Given the description of an element on the screen output the (x, y) to click on. 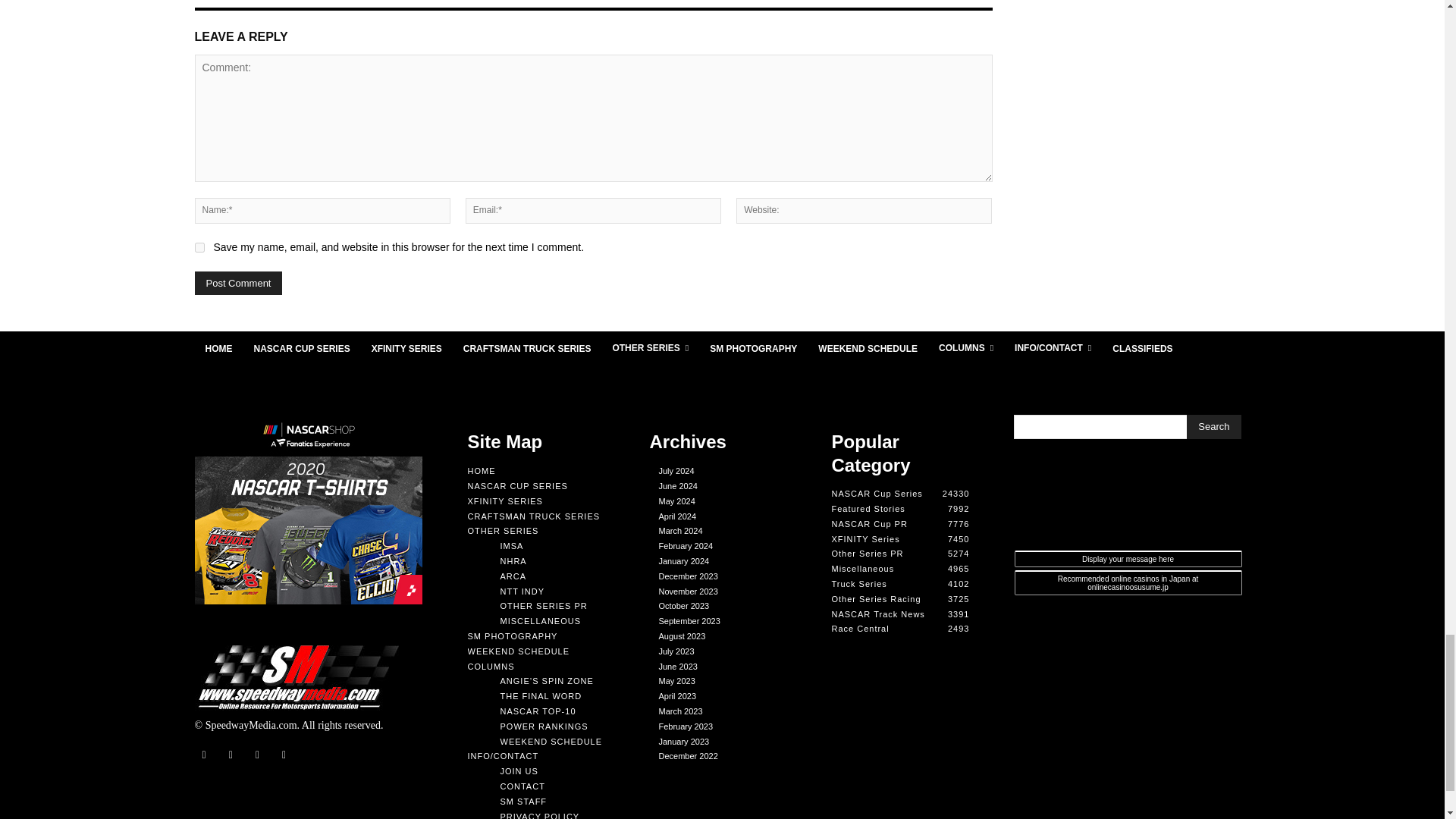
Post Comment (237, 282)
yes (198, 247)
